Given the description of an element on the screen output the (x, y) to click on. 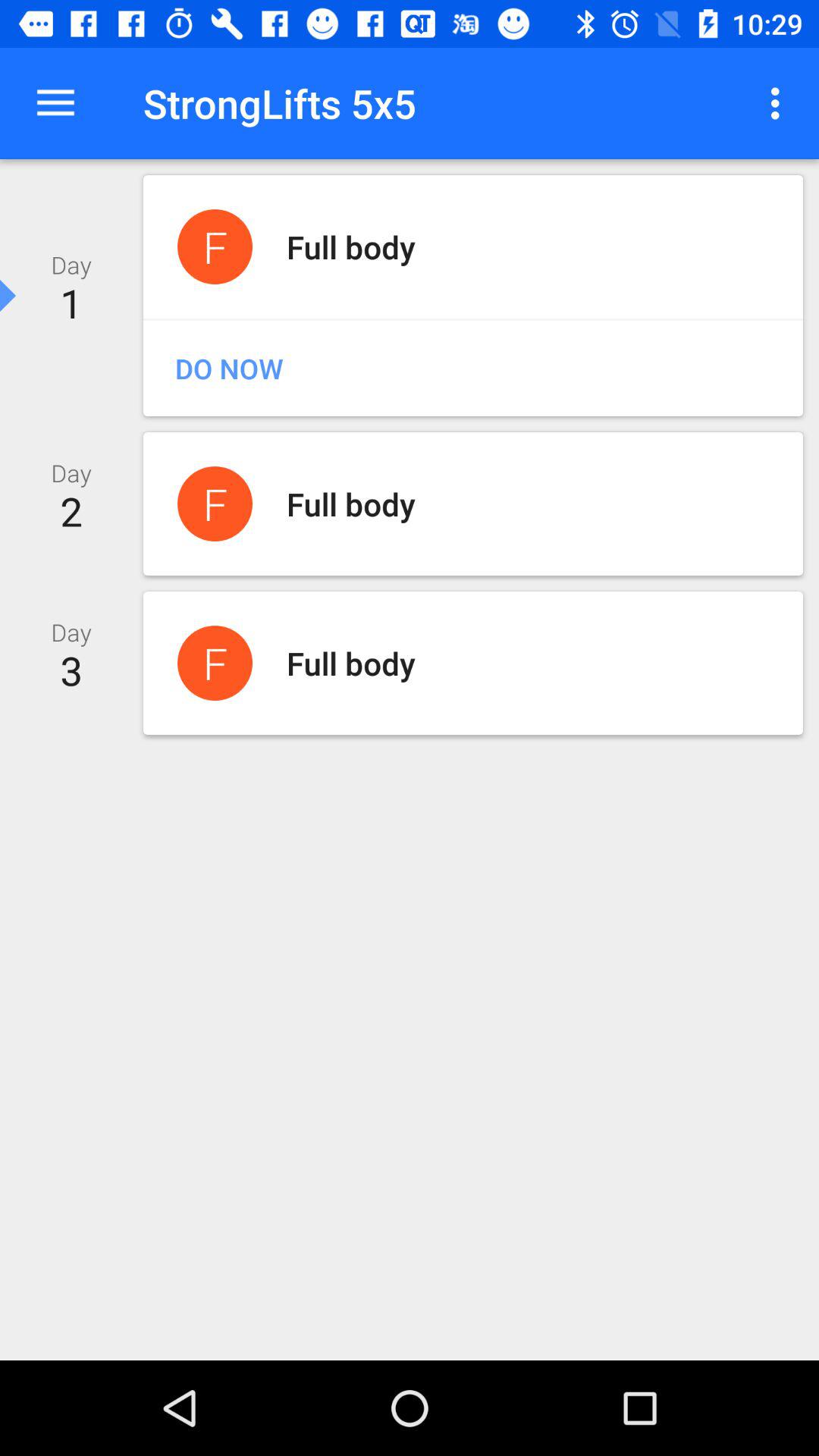
click the item to the right of the stronglifts 5x5 (779, 103)
